Given the description of an element on the screen output the (x, y) to click on. 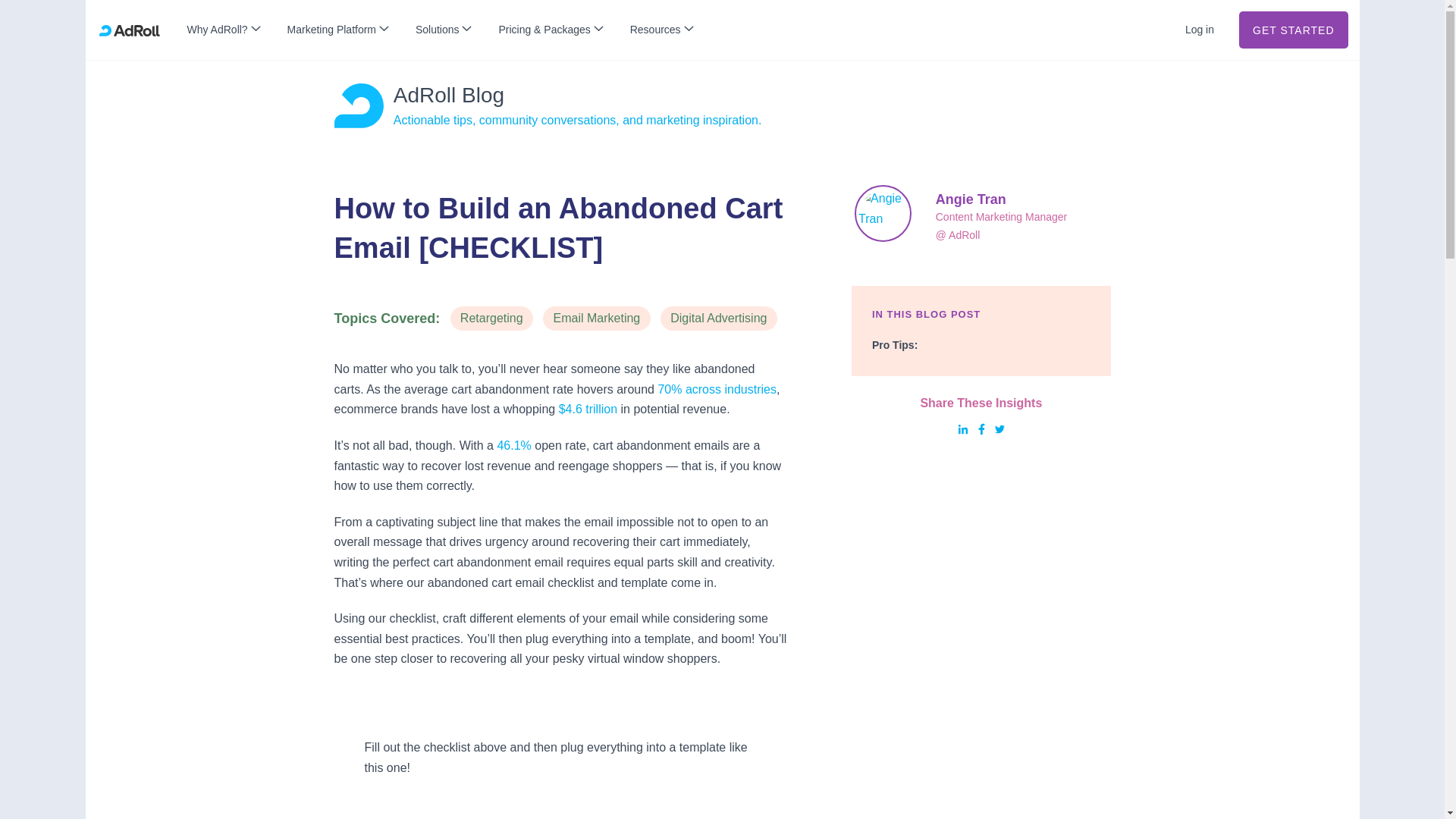
Pro Tips: (894, 345)
Solutions (442, 29)
Why AdRoll? (223, 29)
Marketing Platform (337, 29)
Resources (660, 29)
